Given the description of an element on the screen output the (x, y) to click on. 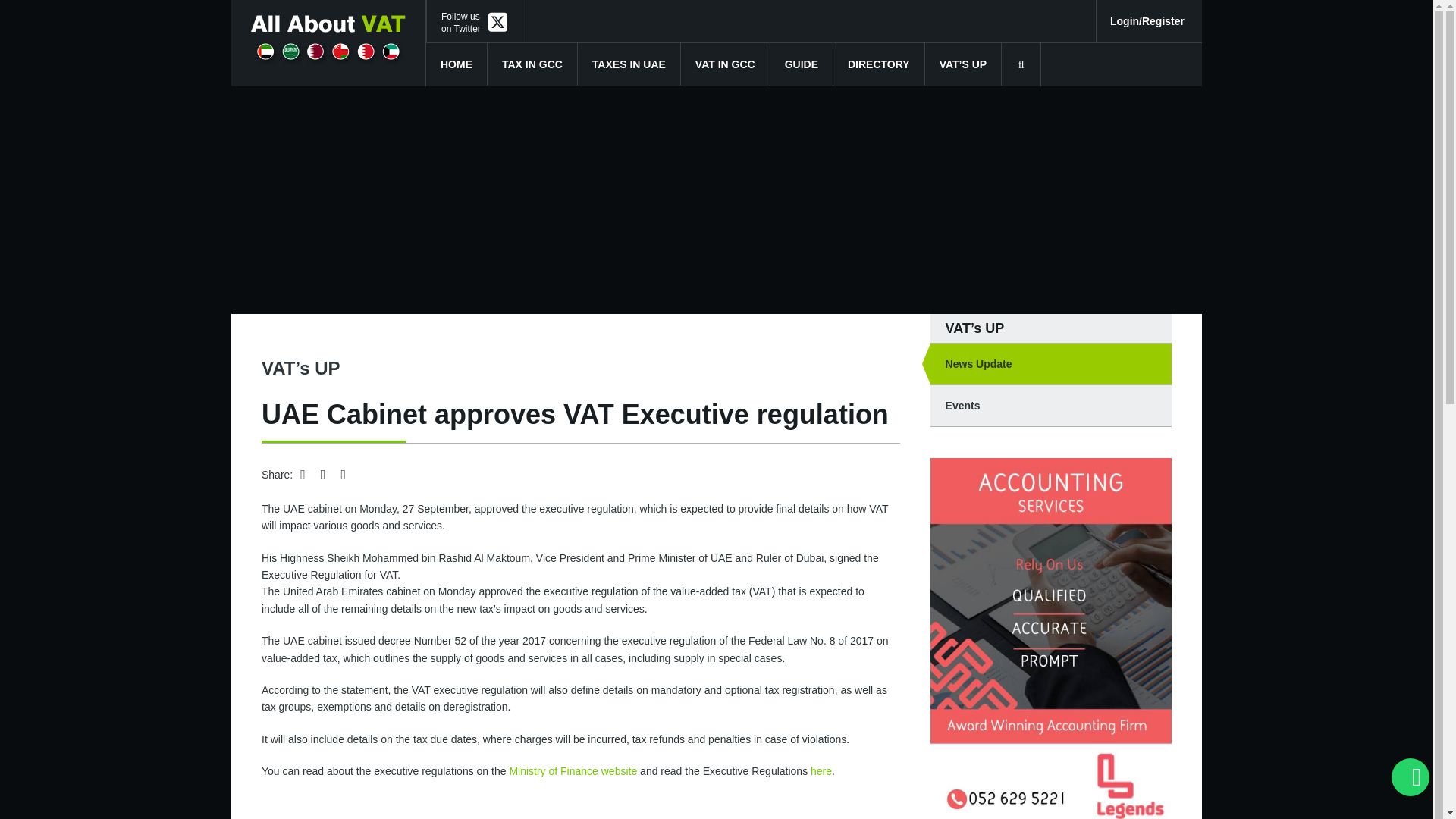
Follow us on Twitter (473, 23)
HOME (473, 23)
Advertisement (456, 64)
